Given the description of an element on the screen output the (x, y) to click on. 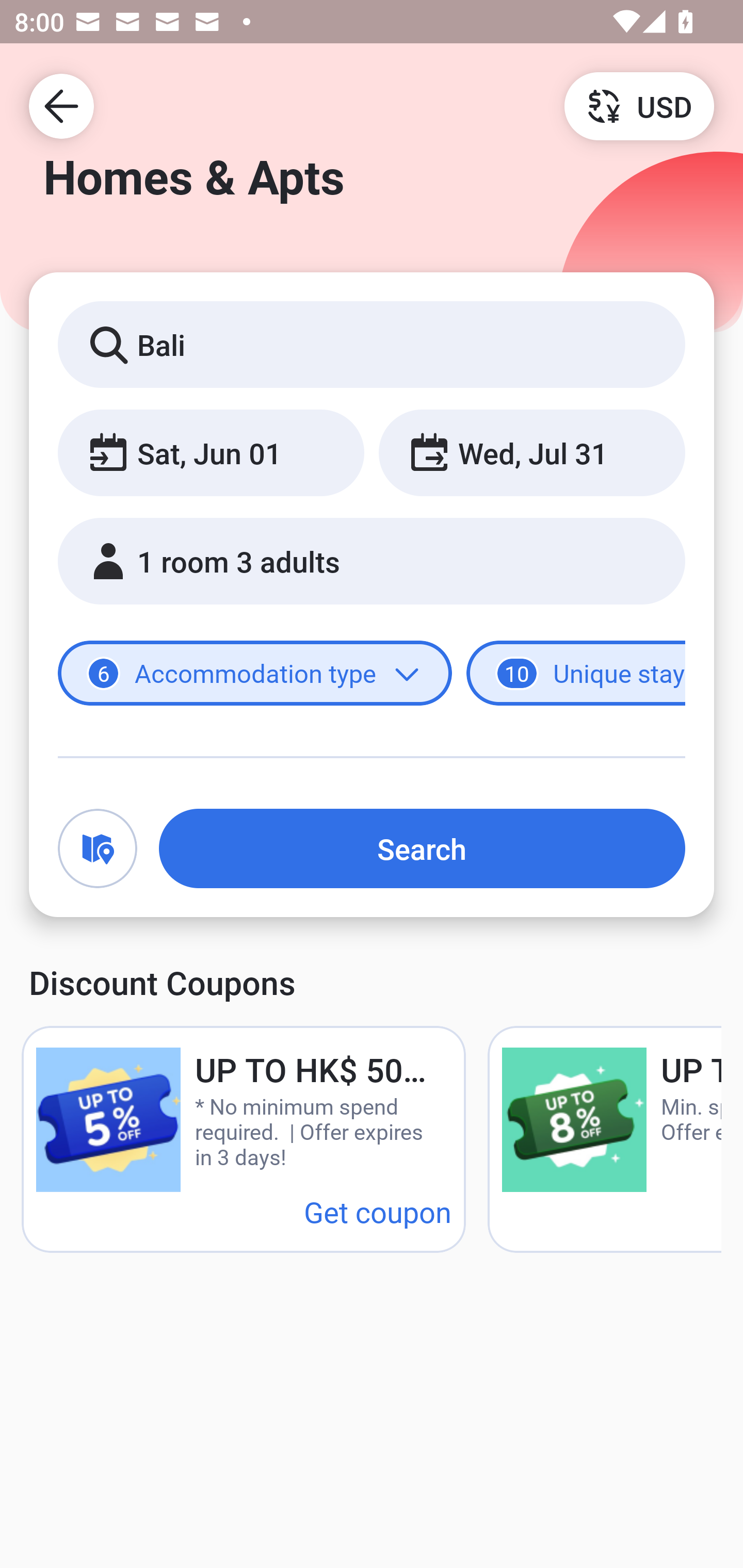
USD (639, 105)
Bali (371, 344)
Sat, Jun 01 (210, 452)
Wed, Jul 31 (531, 452)
1 room 3 adults (371, 561)
6 Accommodation type (254, 673)
10 Unique stays (575, 673)
Search (422, 848)
Get coupon (377, 1211)
